Given the description of an element on the screen output the (x, y) to click on. 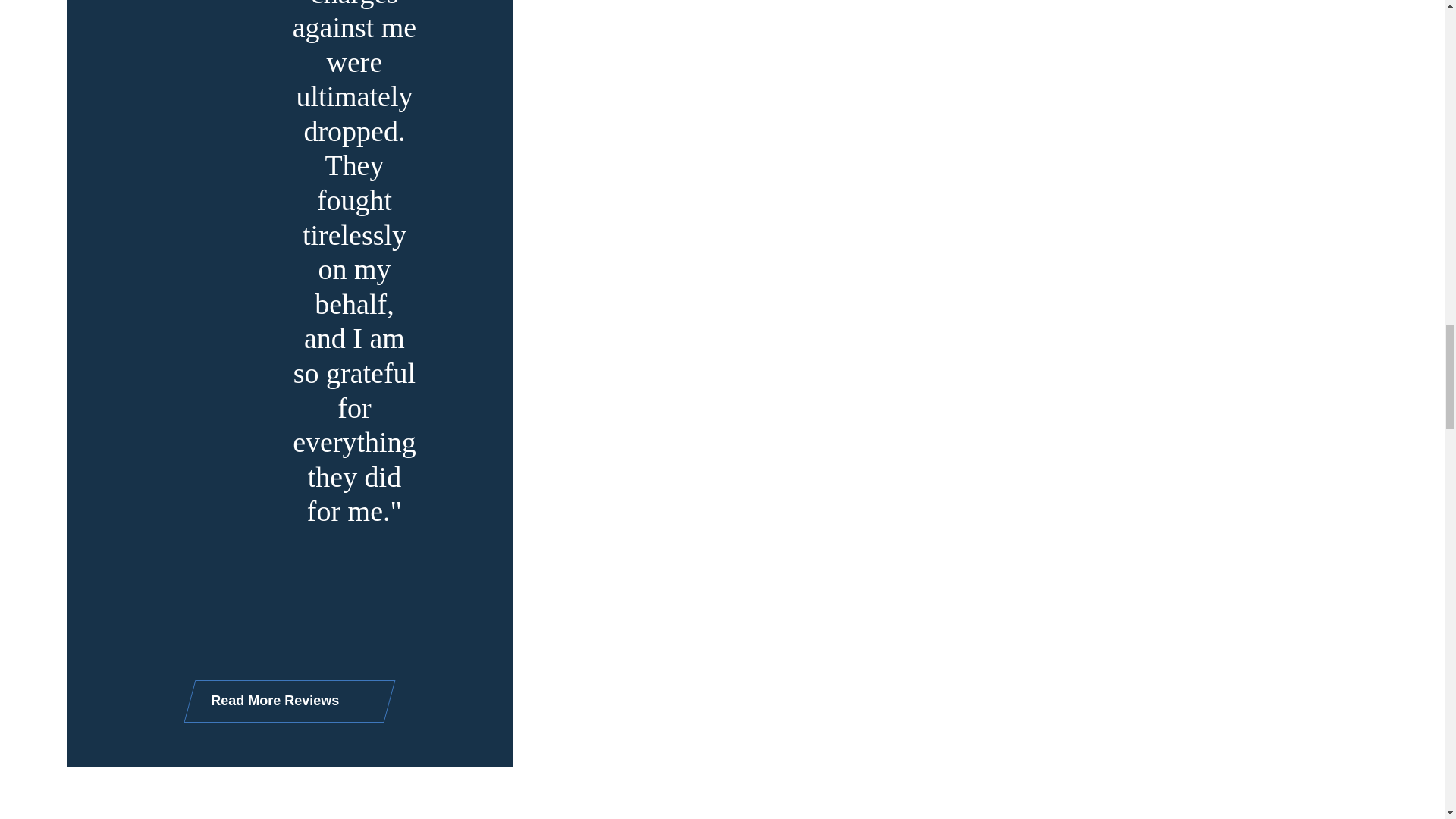
5 Star Rating (167, 257)
5 Star Rating (521, 292)
